Given the description of an element on the screen output the (x, y) to click on. 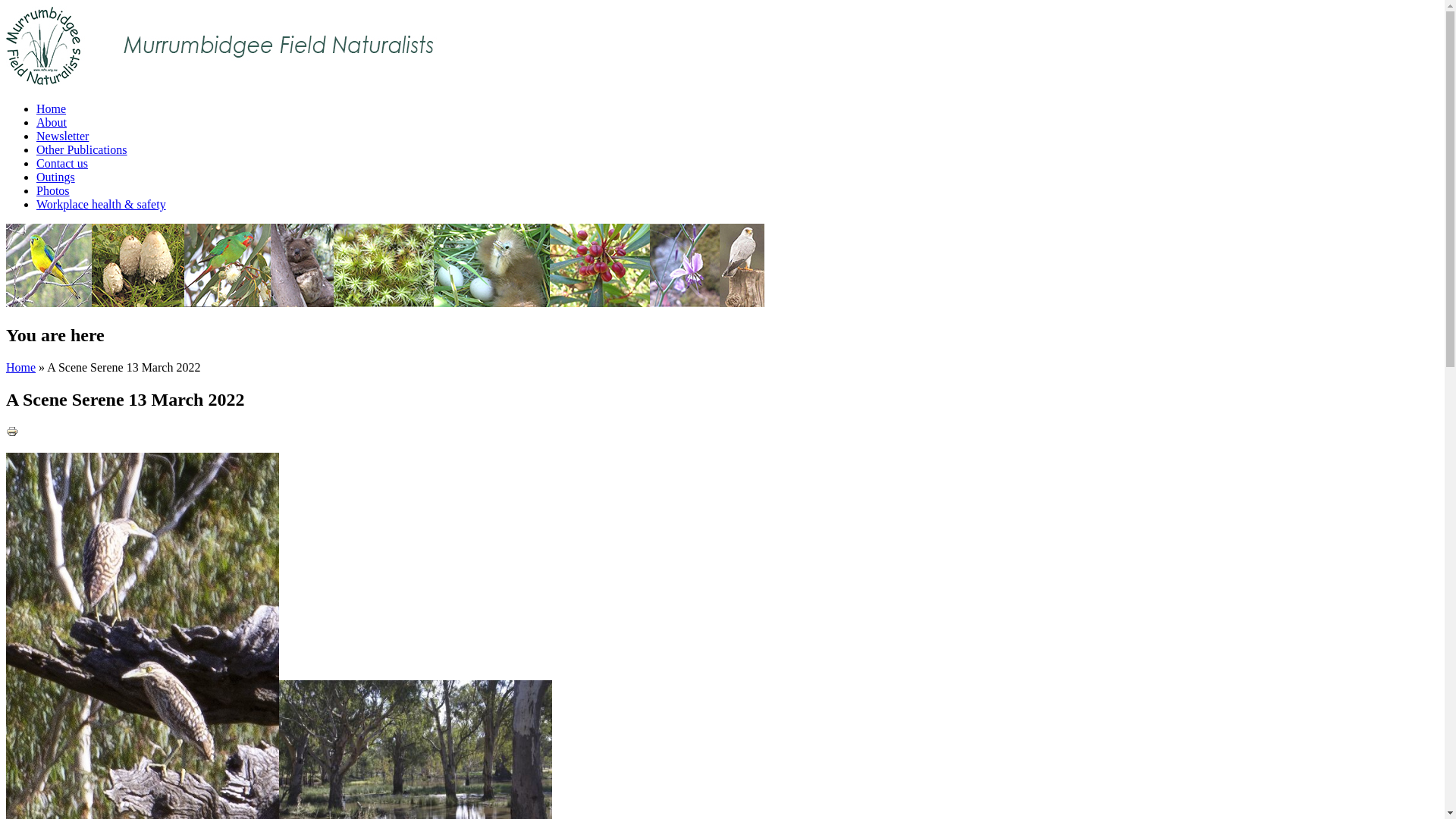
Newsletter Element type: text (62, 135)
Home Element type: hover (222, 82)
Photos Element type: text (52, 190)
Outings Element type: text (55, 176)
Workplace health & safety Element type: text (101, 203)
Display a printer-friendly version of this page. Element type: hover (12, 432)
Printer-friendly version Element type: hover (12, 431)
Home Element type: text (20, 366)
About Element type: text (51, 122)
Home Element type: text (50, 108)
Contact us Element type: text (61, 162)
Other Publications Element type: text (81, 149)
